Given the description of an element on the screen output the (x, y) to click on. 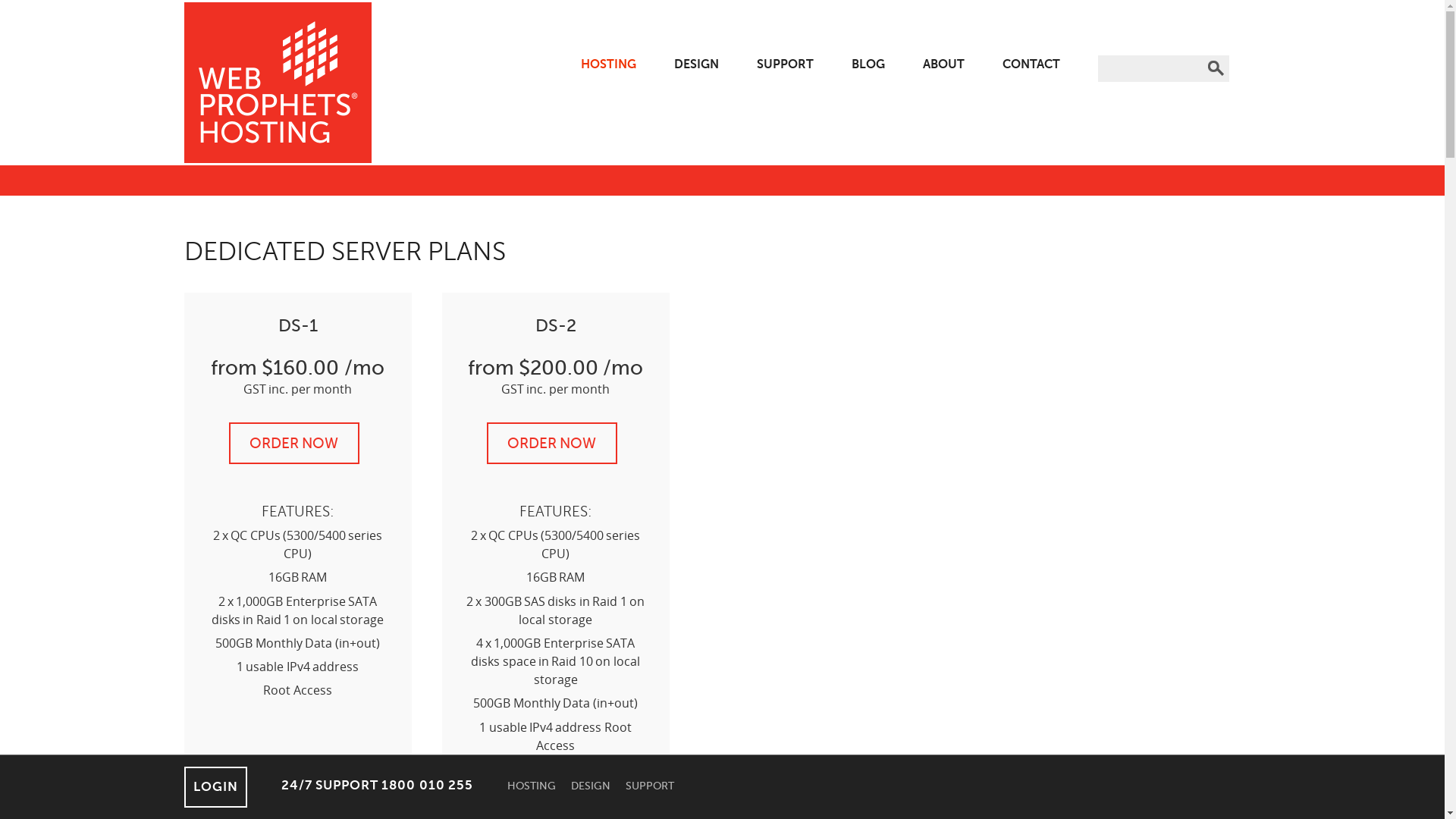
HOSTING Element type: text (531, 785)
You Tube Element type: text (1251, 787)
SUPPORT Element type: text (649, 785)
LOGIN Element type: text (214, 786)
Home Element type: hover (276, 83)
Twitter Element type: text (1192, 787)
SUPPORT Element type: text (784, 64)
CONTACT Element type: text (1031, 64)
Enter the terms you wish to search for. Element type: hover (1150, 68)
HOSTING Element type: text (608, 64)
DESIGN Element type: text (695, 64)
DESIGN Element type: text (590, 785)
ORDER NOW Element type: text (551, 443)
LinkedIn Element type: text (1222, 787)
ORDER NOW Element type: text (293, 443)
Skip to Content Element type: text (0, 2)
Facebook Element type: text (1163, 787)
ABOUT Element type: text (942, 64)
Back to top Element type: text (0, 815)
BLOG Element type: text (867, 64)
